Given the description of an element on the screen output the (x, y) to click on. 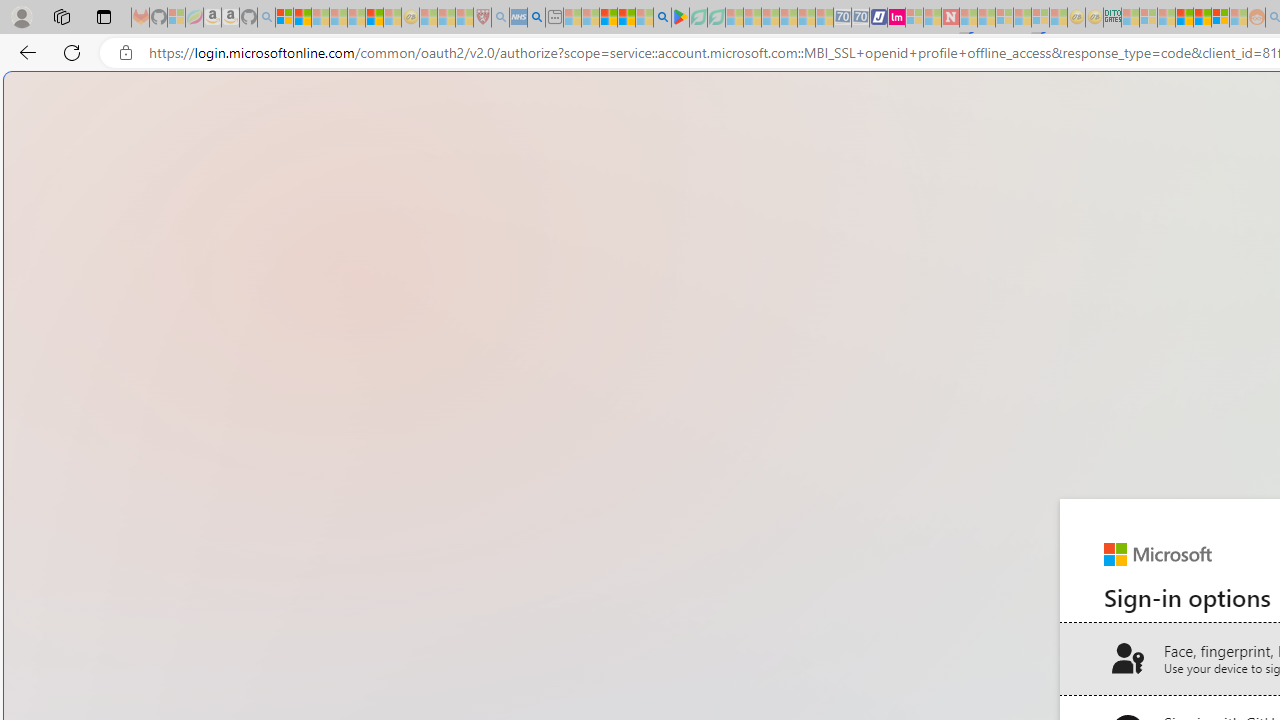
Kinda Frugal - MSN (1202, 17)
Pets - MSN (626, 17)
utah sues federal government - Search (536, 17)
